Given the description of an element on the screen output the (x, y) to click on. 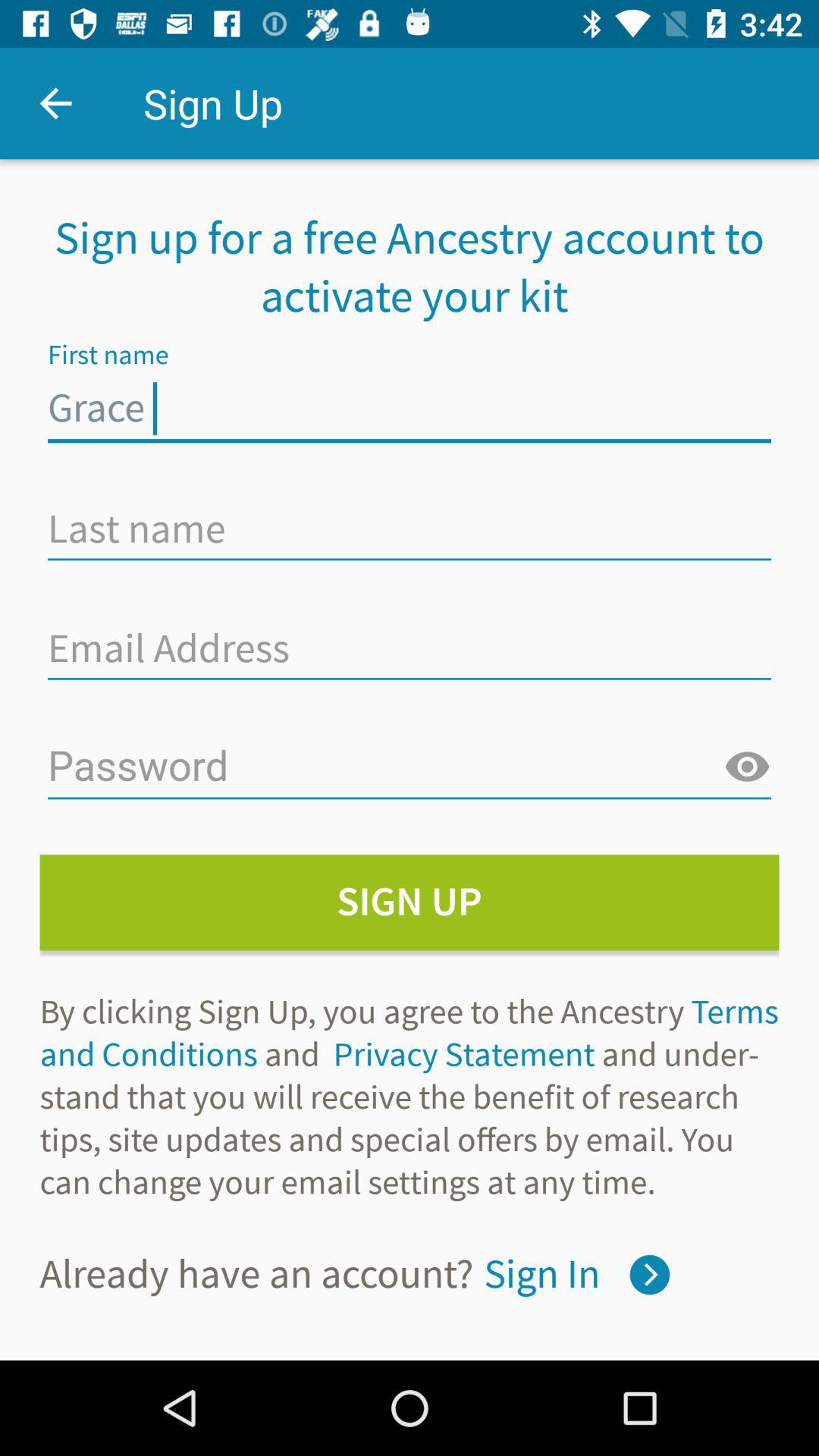
sign in (649, 1274)
